Given the description of an element on the screen output the (x, y) to click on. 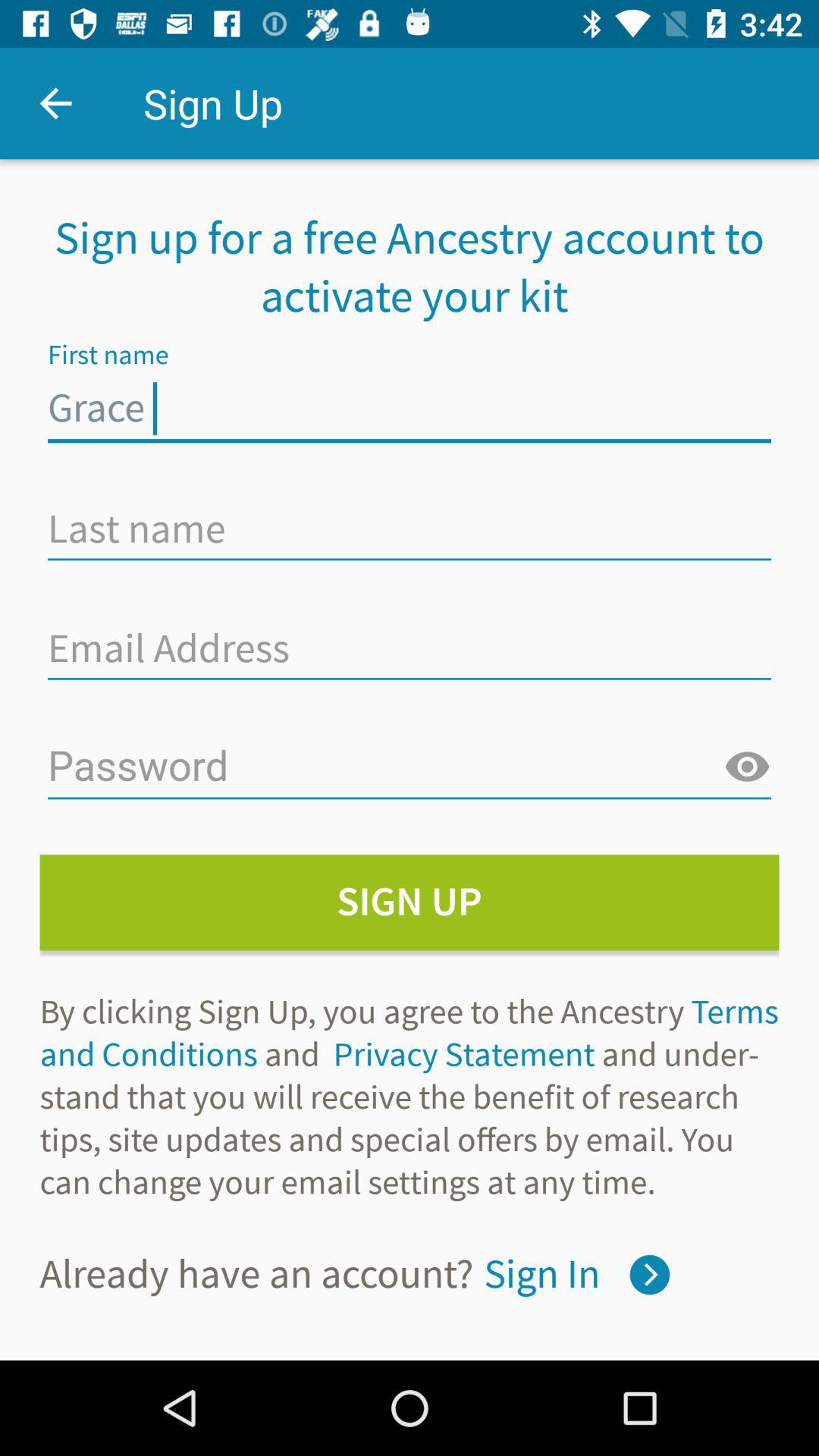
sign in (649, 1274)
